Given the description of an element on the screen output the (x, y) to click on. 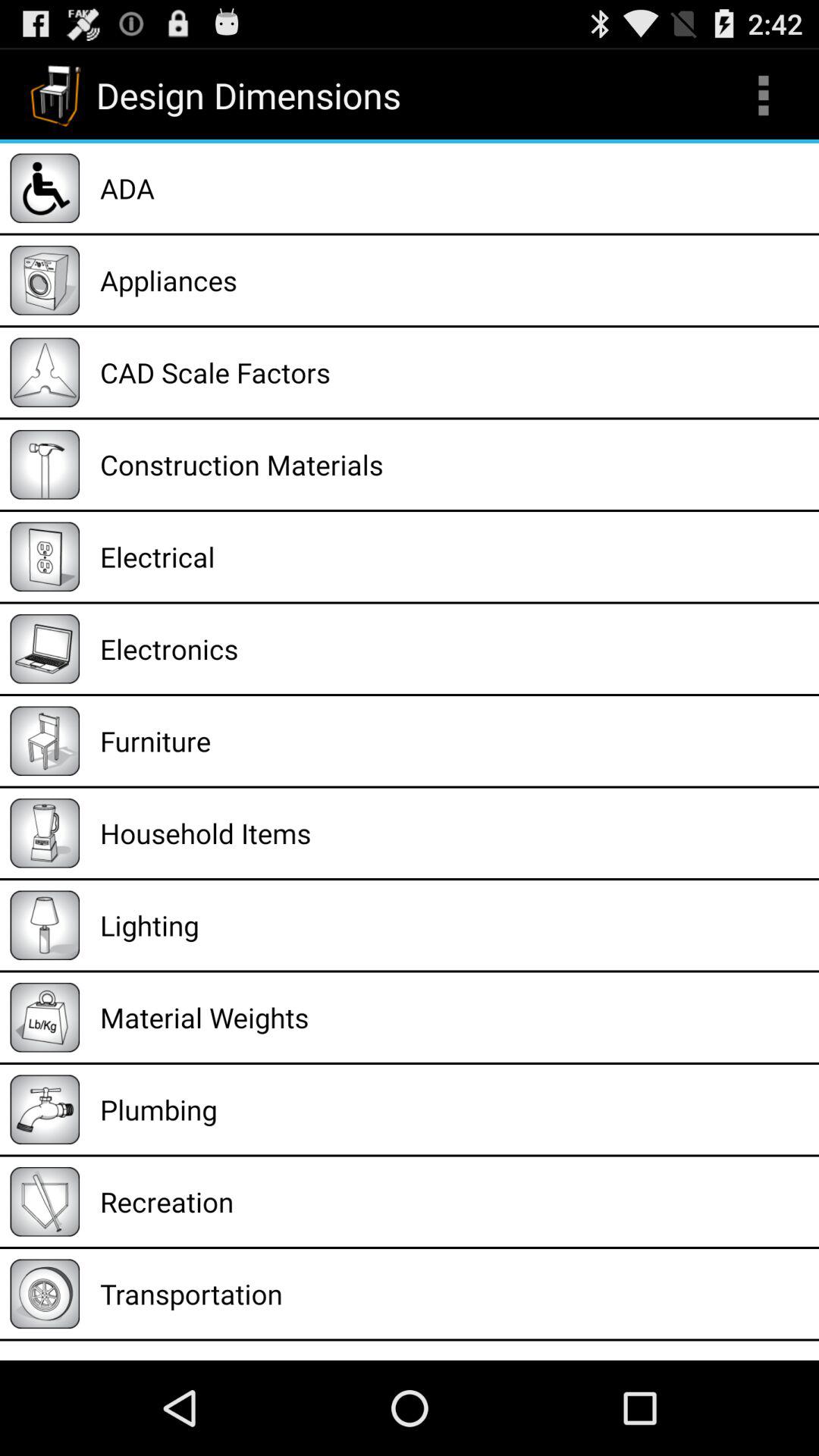
turn off item to the right of design dimensions icon (763, 95)
